Given the description of an element on the screen output the (x, y) to click on. 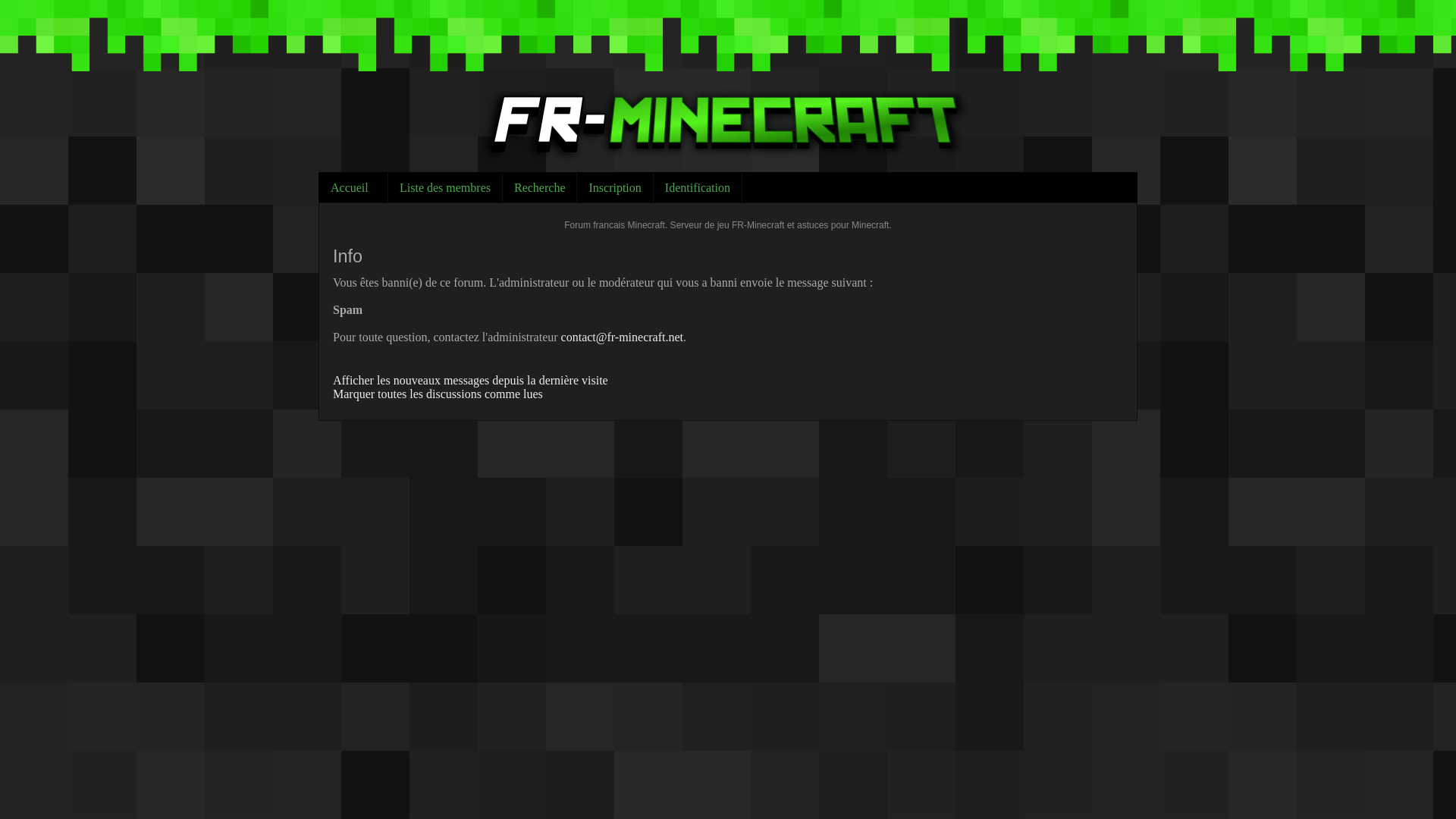
Recherche (540, 187)
Identification (697, 187)
Inscription (614, 187)
Accueil (353, 187)
Liste des membres (445, 187)
